Given the description of an element on the screen output the (x, y) to click on. 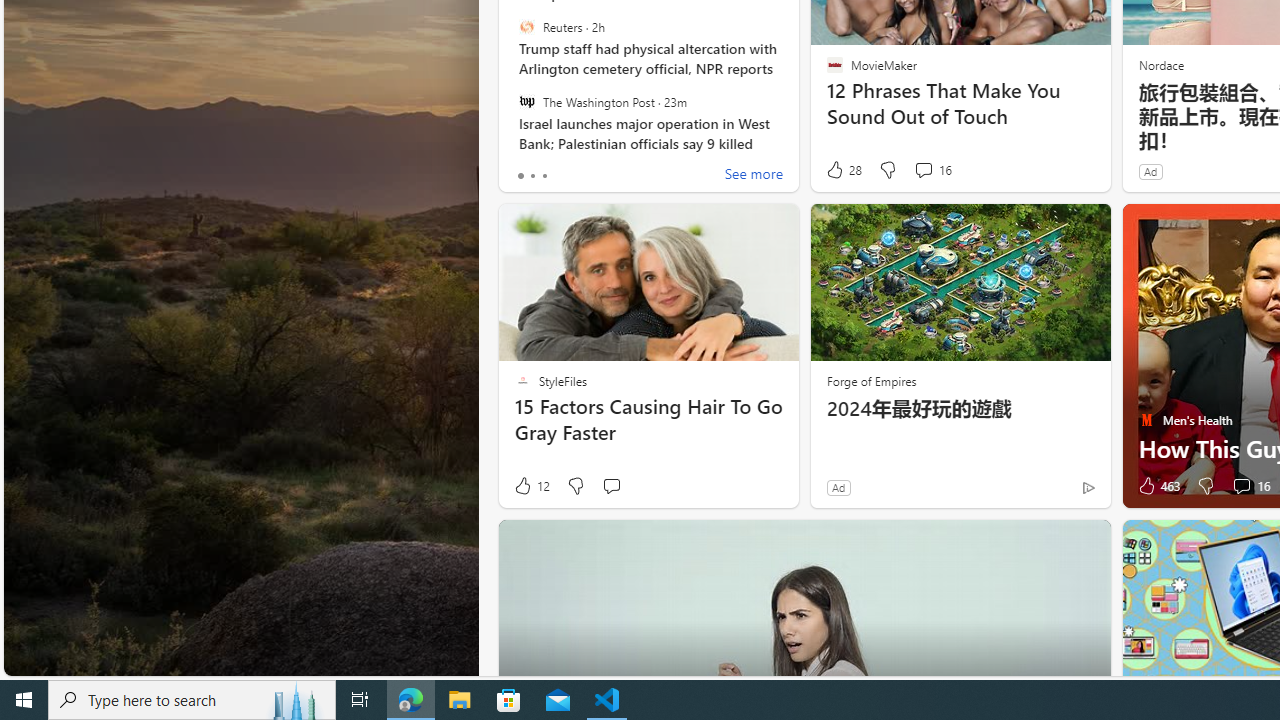
tab-2 (543, 175)
The Washington Post (526, 101)
Forge of Empires (870, 380)
463 Like (1157, 485)
Reuters (526, 27)
View comments 16 Comment (1241, 485)
12 Like (531, 485)
